Given the description of an element on the screen output the (x, y) to click on. 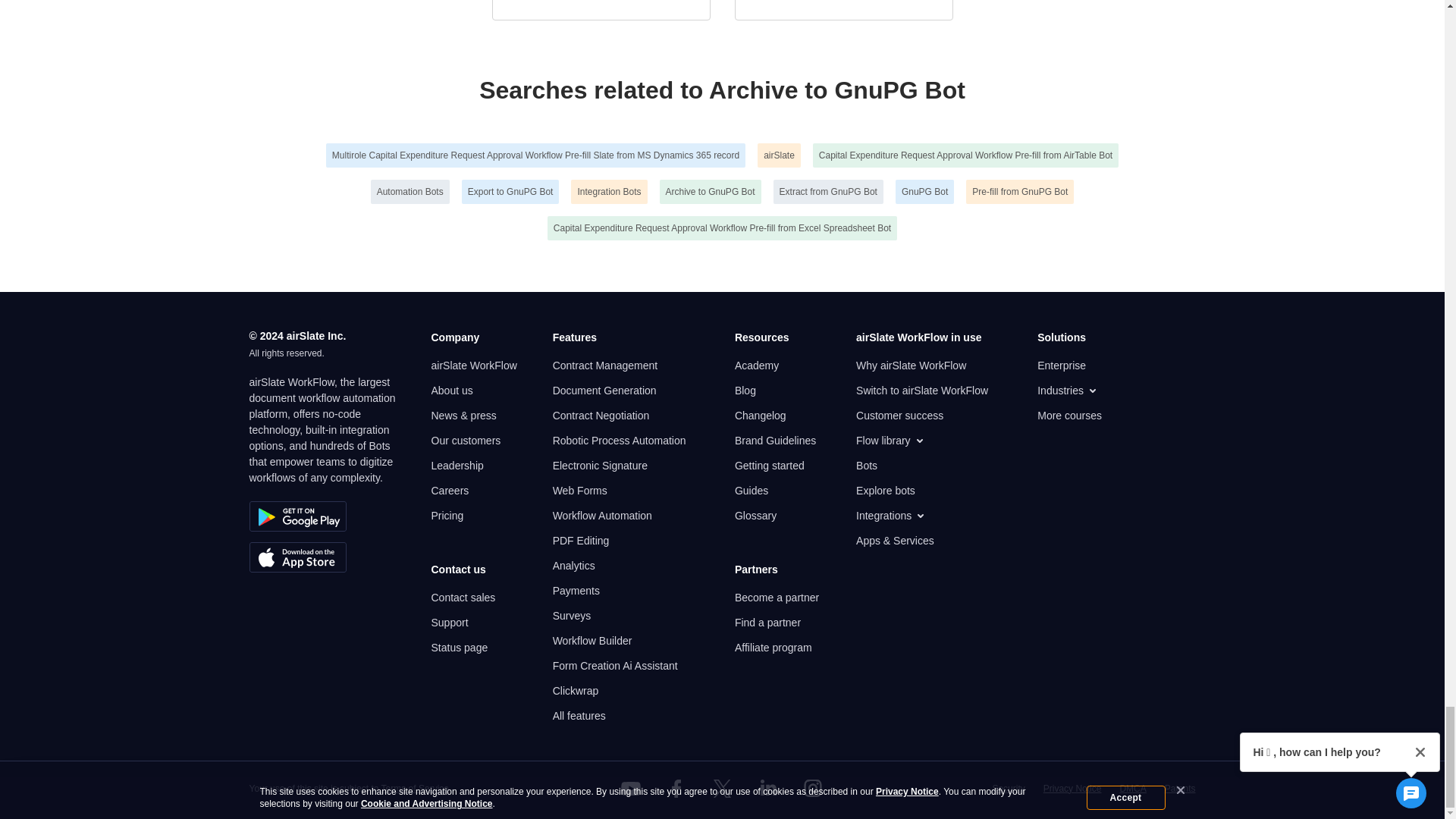
Instagram (812, 788)
LinkedIn (767, 788)
YouTube (630, 788)
Facebook (676, 788)
Twitter (721, 788)
